Given the description of an element on the screen output the (x, y) to click on. 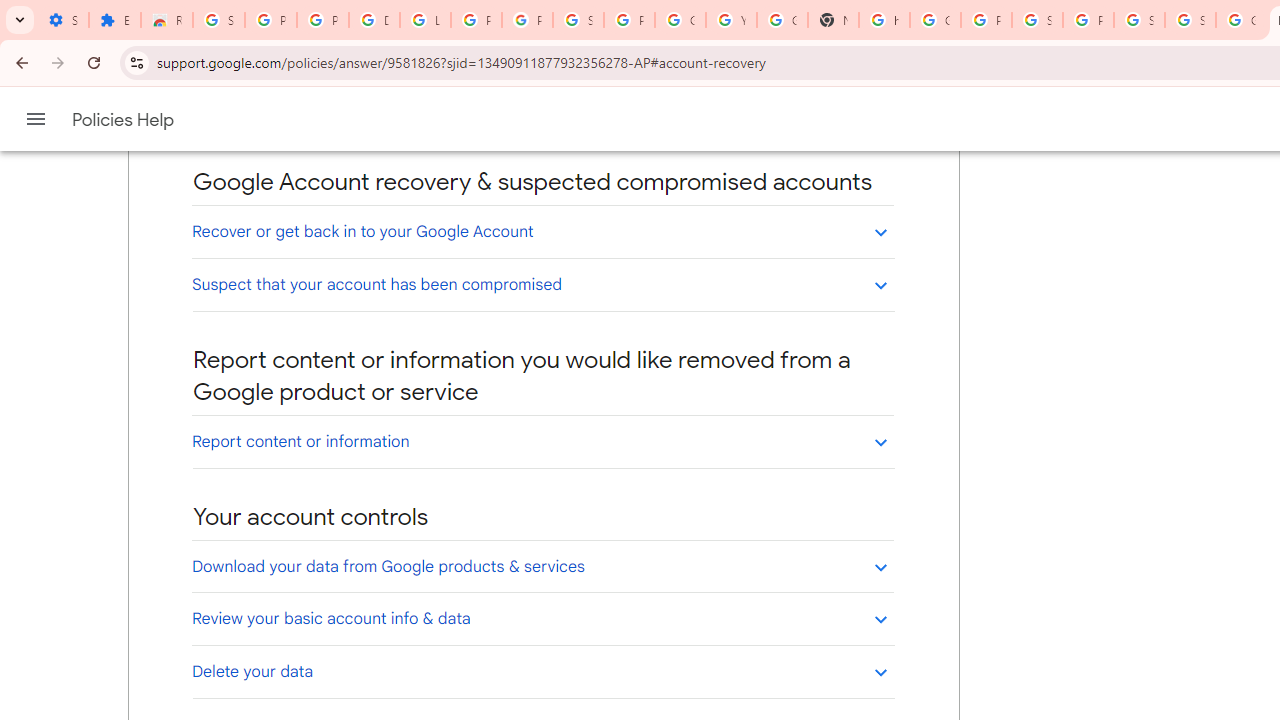
Settings - On startup (63, 20)
New Tab (832, 20)
Policies Help (124, 119)
Google Account (680, 20)
Sign in - Google Accounts (1138, 20)
Report content or information (542, 441)
help center and support forums (373, 121)
Sign in - Google Accounts (578, 20)
Suspect that your account has been compromised (542, 284)
Extensions (114, 20)
